Given the description of an element on the screen output the (x, y) to click on. 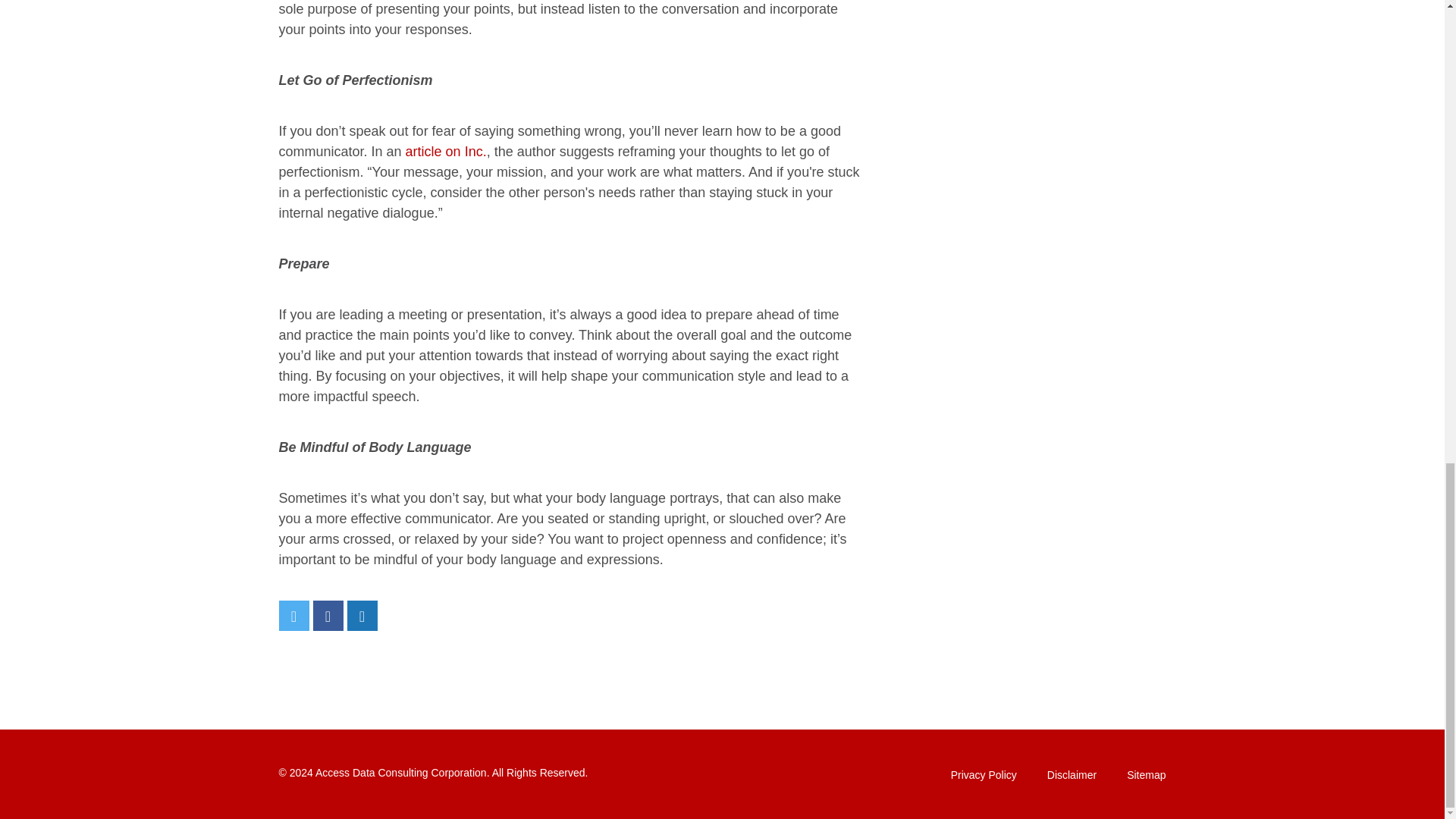
Share on Facebook (327, 615)
Access Data Consulting Corporation (400, 772)
Disclaimer (1071, 775)
Share on LinkedIn (362, 615)
article on Inc. (446, 151)
Privacy Policy (983, 775)
Sitemap (1146, 775)
Share on Twitter (293, 615)
